Given the description of an element on the screen output the (x, y) to click on. 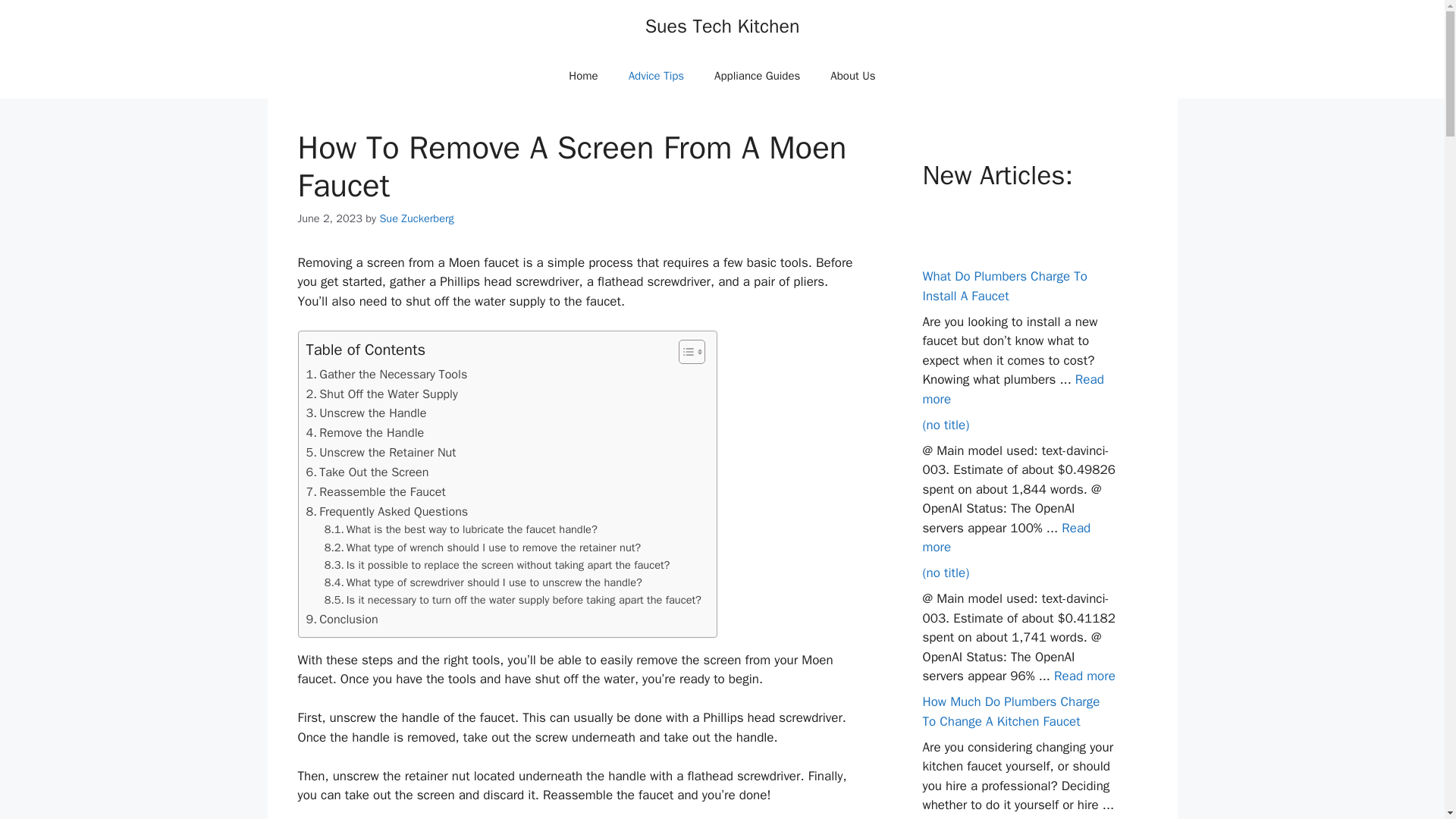
About Us (852, 75)
Frequently Asked Questions (386, 511)
Gather the Necessary Tools (386, 374)
Advice Tips (655, 75)
Home (582, 75)
What Do Plumbers Charge To Install A Faucet (1003, 285)
Gather the Necessary Tools (386, 374)
Reassemble the Faucet (375, 492)
Unscrew the Retainer Nut (381, 452)
